Given the description of an element on the screen output the (x, y) to click on. 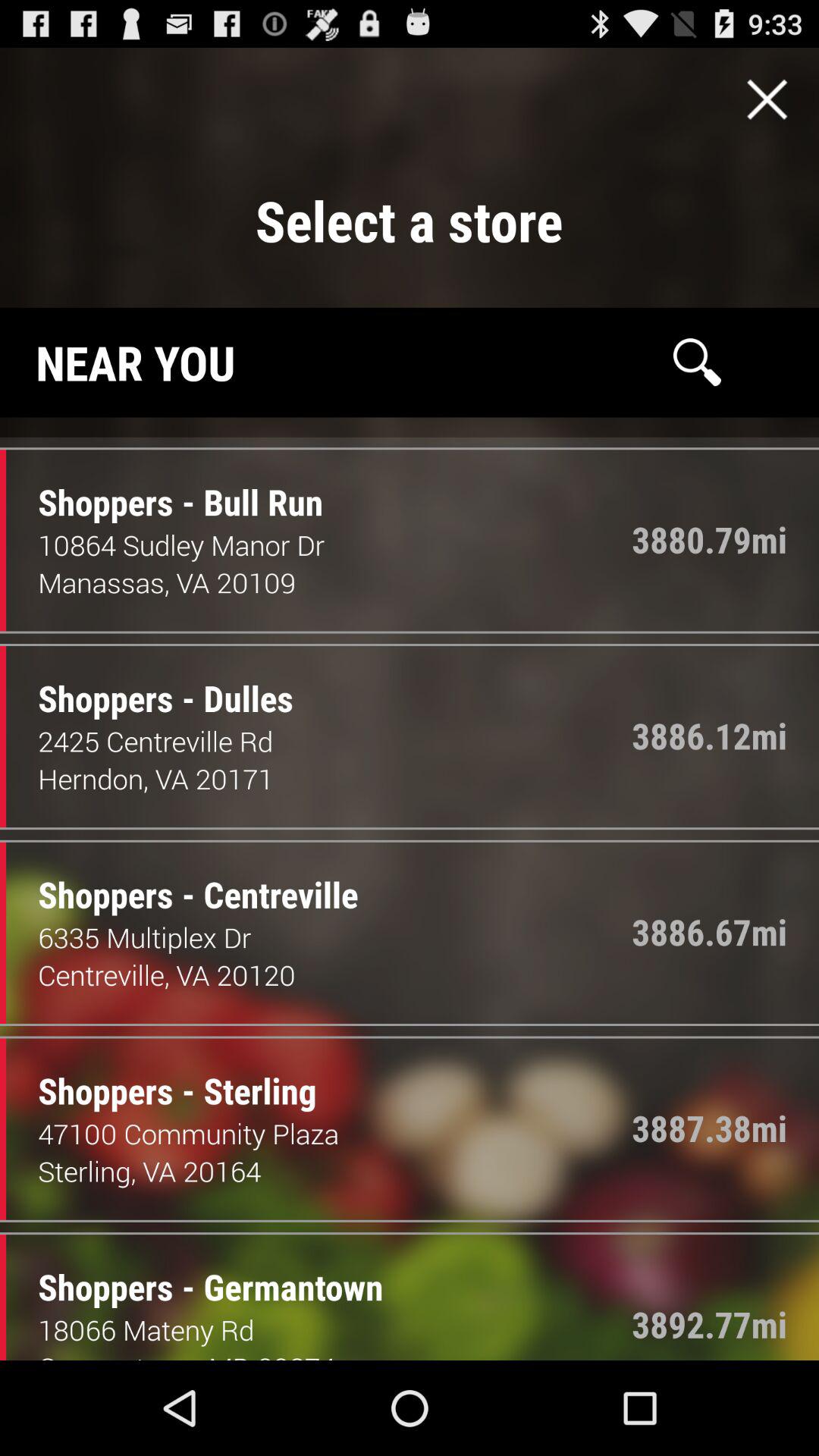
tap the shoppers - bull run (168, 486)
